Given the description of an element on the screen output the (x, y) to click on. 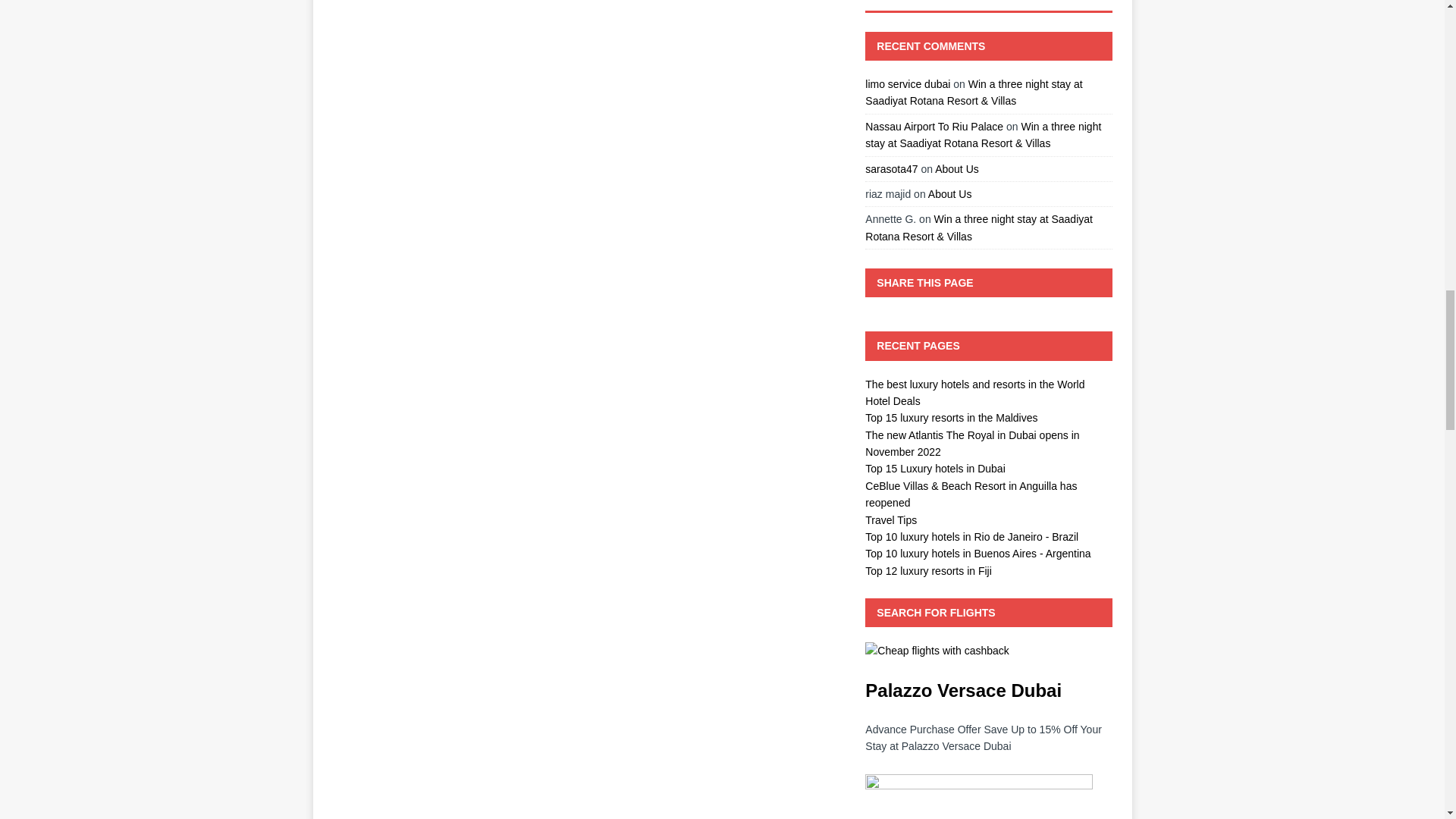
Hotel Deals (892, 400)
Top 15 Luxury hotels in Dubai (934, 468)
The new Atlantis The Royal in Dubai opens in November 2022 (971, 443)
Top 15 luxury resorts in the Maldives (950, 417)
The best luxury hotels and resorts in the World (974, 384)
